Given the description of an element on the screen output the (x, y) to click on. 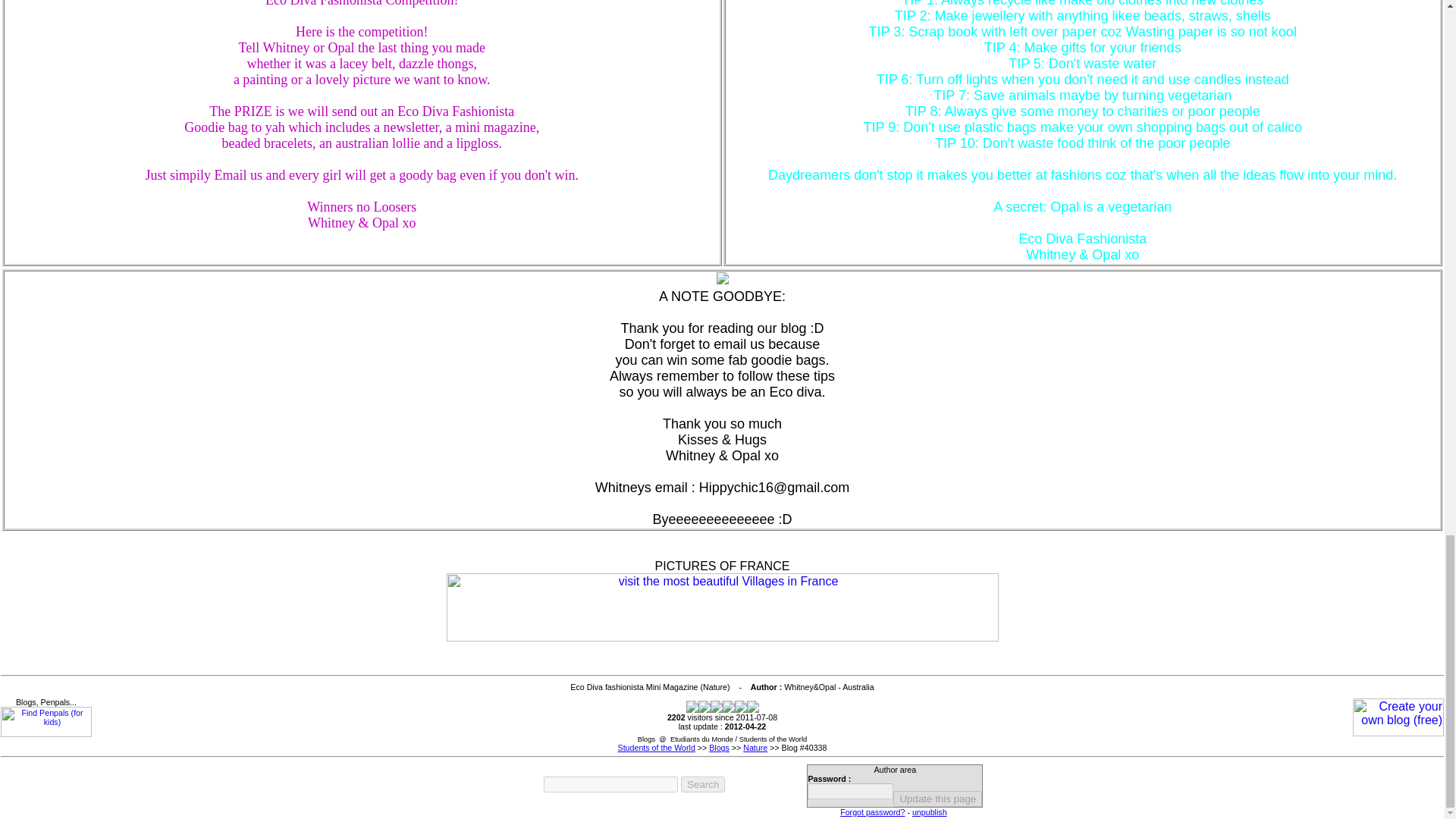
Search (703, 784)
Students of the World (656, 747)
Nature (754, 747)
Forgot password? (872, 811)
unpublish (929, 811)
Search (703, 784)
Blogs (719, 747)
visit the most beautiful Villages in France (721, 607)
Update this page (937, 798)
